Given the description of an element on the screen output the (x, y) to click on. 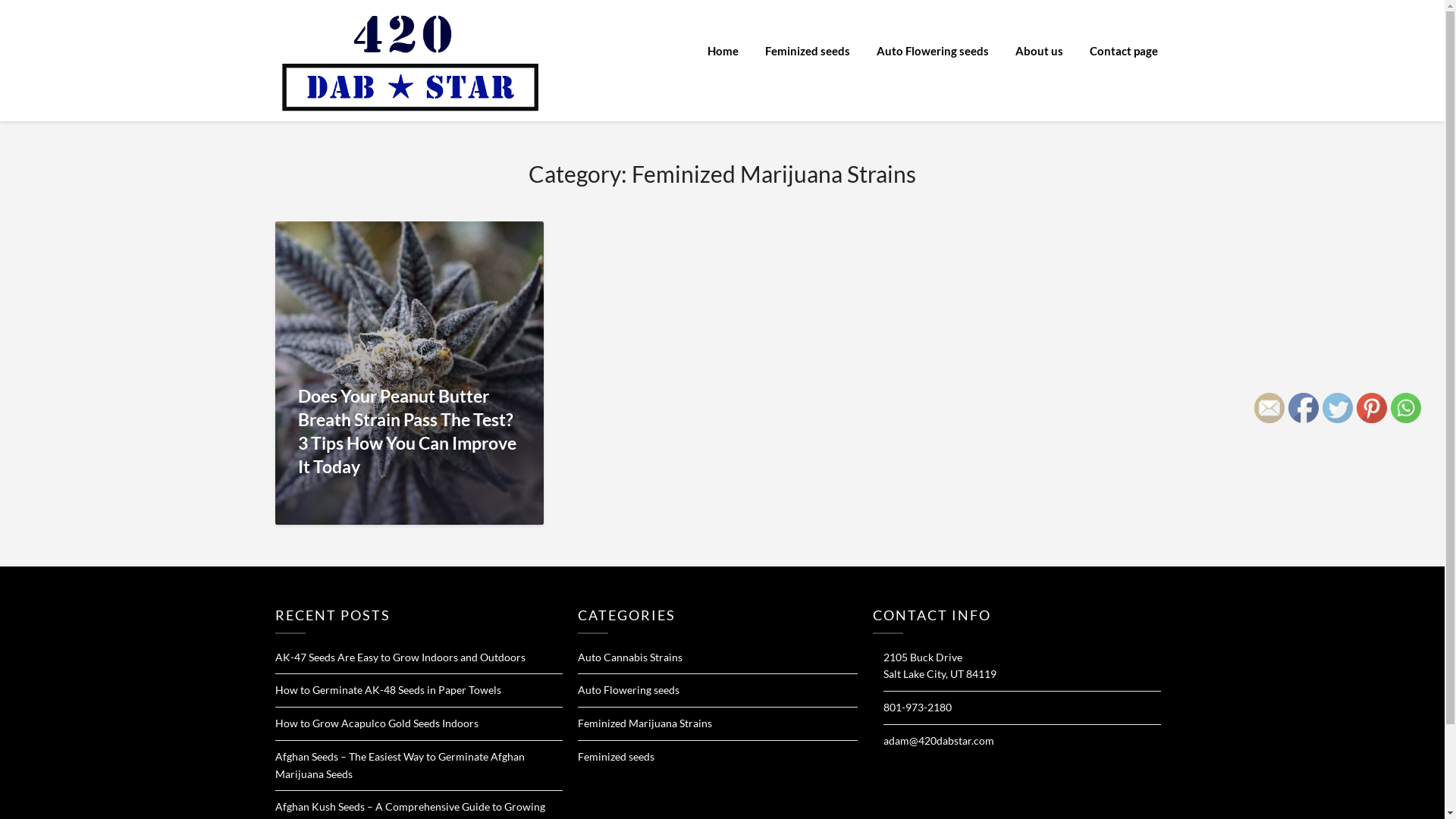
AK-47 Seeds Are Easy to Grow Indoors and Outdoors Element type: text (399, 656)
Feminized Marijuana Strains Element type: text (644, 722)
About us Element type: text (1038, 50)
Auto Cannabis Strains Element type: text (629, 656)
Facebook Element type: hover (1303, 407)
Home Element type: text (721, 50)
Feminized seeds Element type: text (806, 50)
How to Germinate AK-48 Seeds in Paper Towels Element type: text (387, 689)
Auto Flowering seeds Element type: text (628, 689)
Pinterest Element type: hover (1371, 407)
Contact page Element type: text (1122, 50)
Feminized seeds Element type: text (615, 755)
WhatsApp Element type: hover (1405, 407)
How to Grow Acapulco Gold Seeds Indoors Element type: text (375, 722)
Follow by Email Element type: hover (1269, 407)
Twitter Element type: hover (1337, 407)
Auto Flowering seeds Element type: text (932, 50)
